Given the description of an element on the screen output the (x, y) to click on. 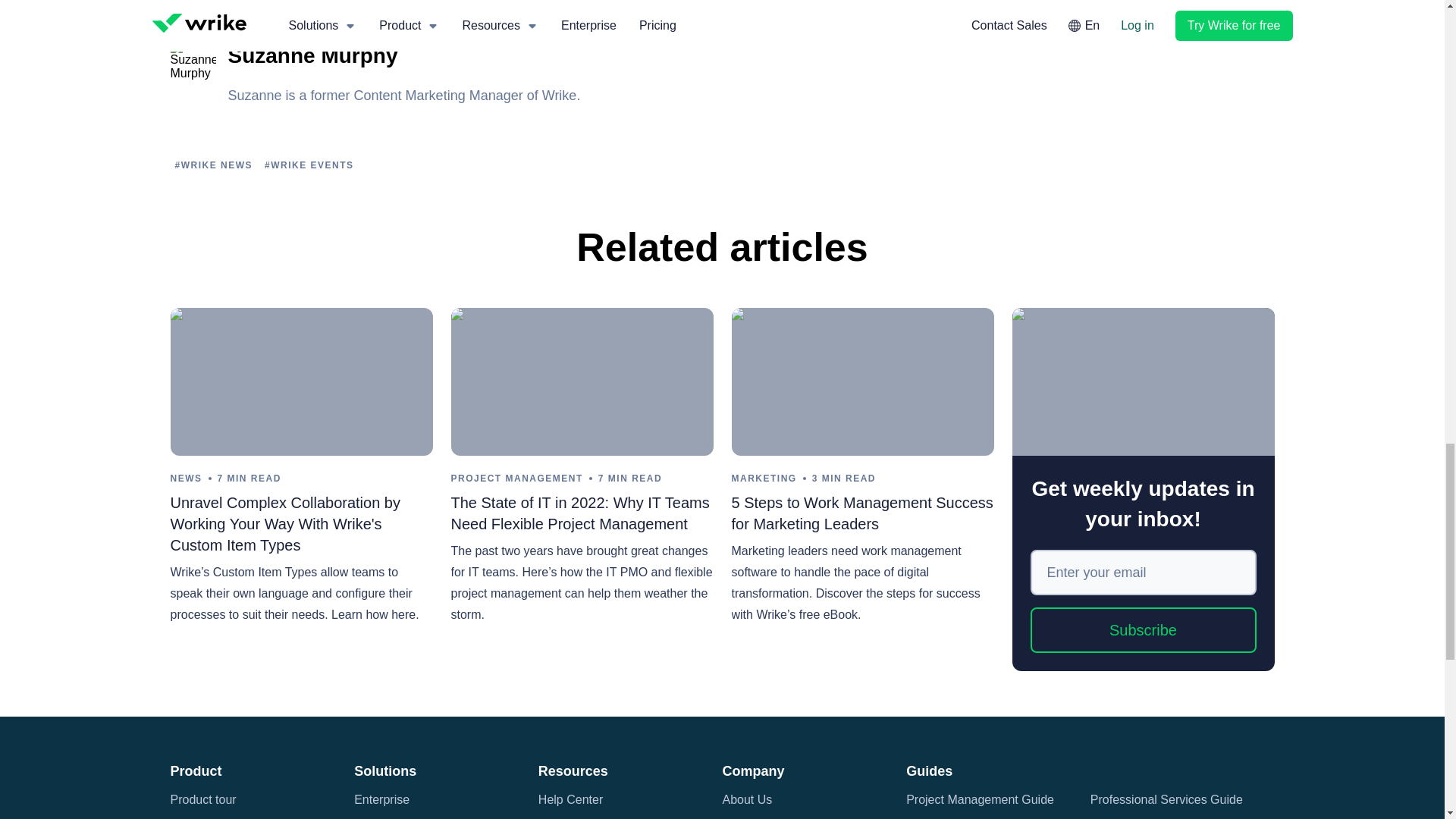
Product tour (202, 799)
Pricing (188, 815)
Enterprise (381, 799)
Marketing (380, 815)
